Given the description of an element on the screen output the (x, y) to click on. 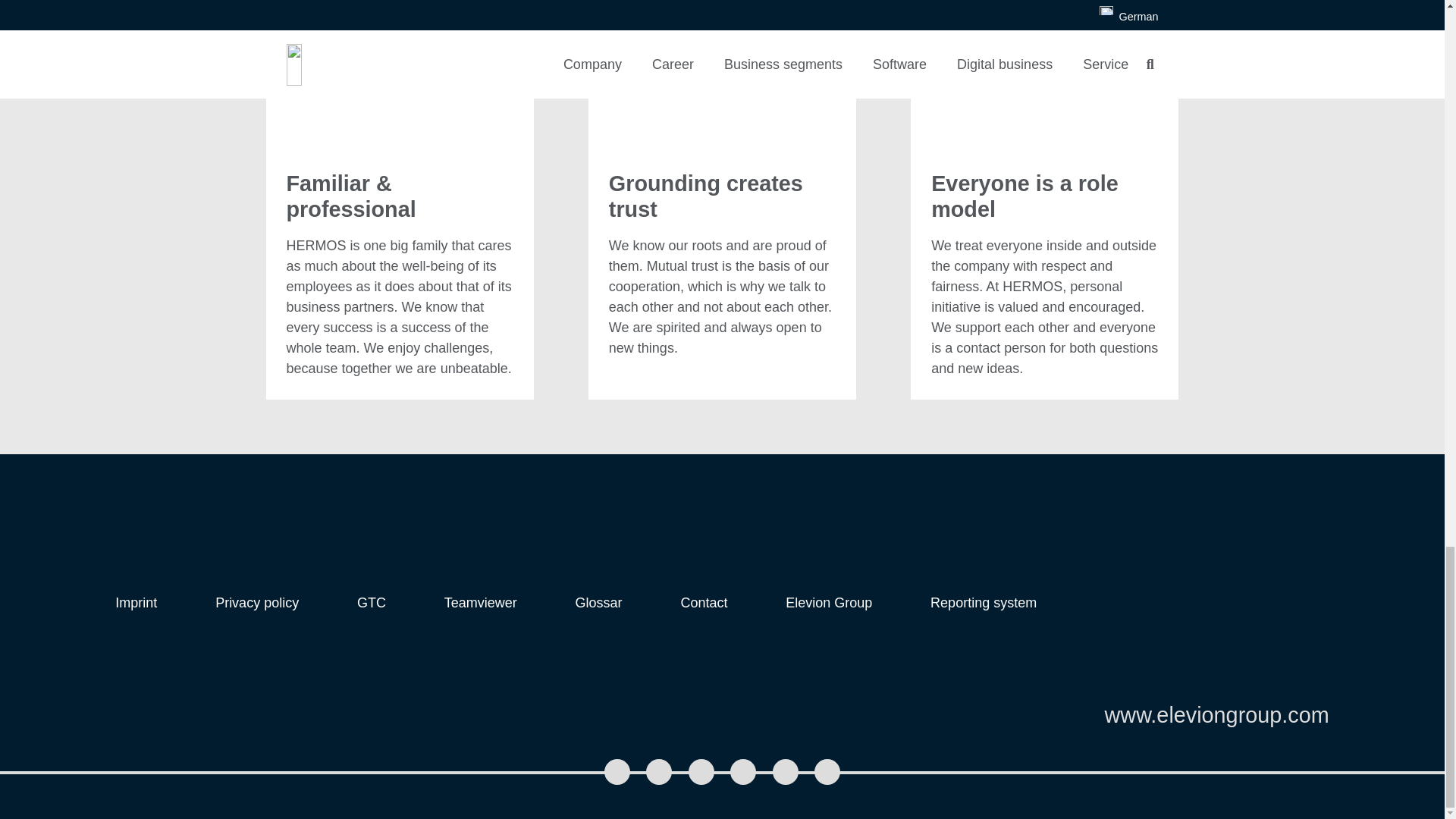
Zur Seite der Eleviongroup (1217, 714)
Click here to go to the Elevion Group website (829, 602)
